Given the description of an element on the screen output the (x, y) to click on. 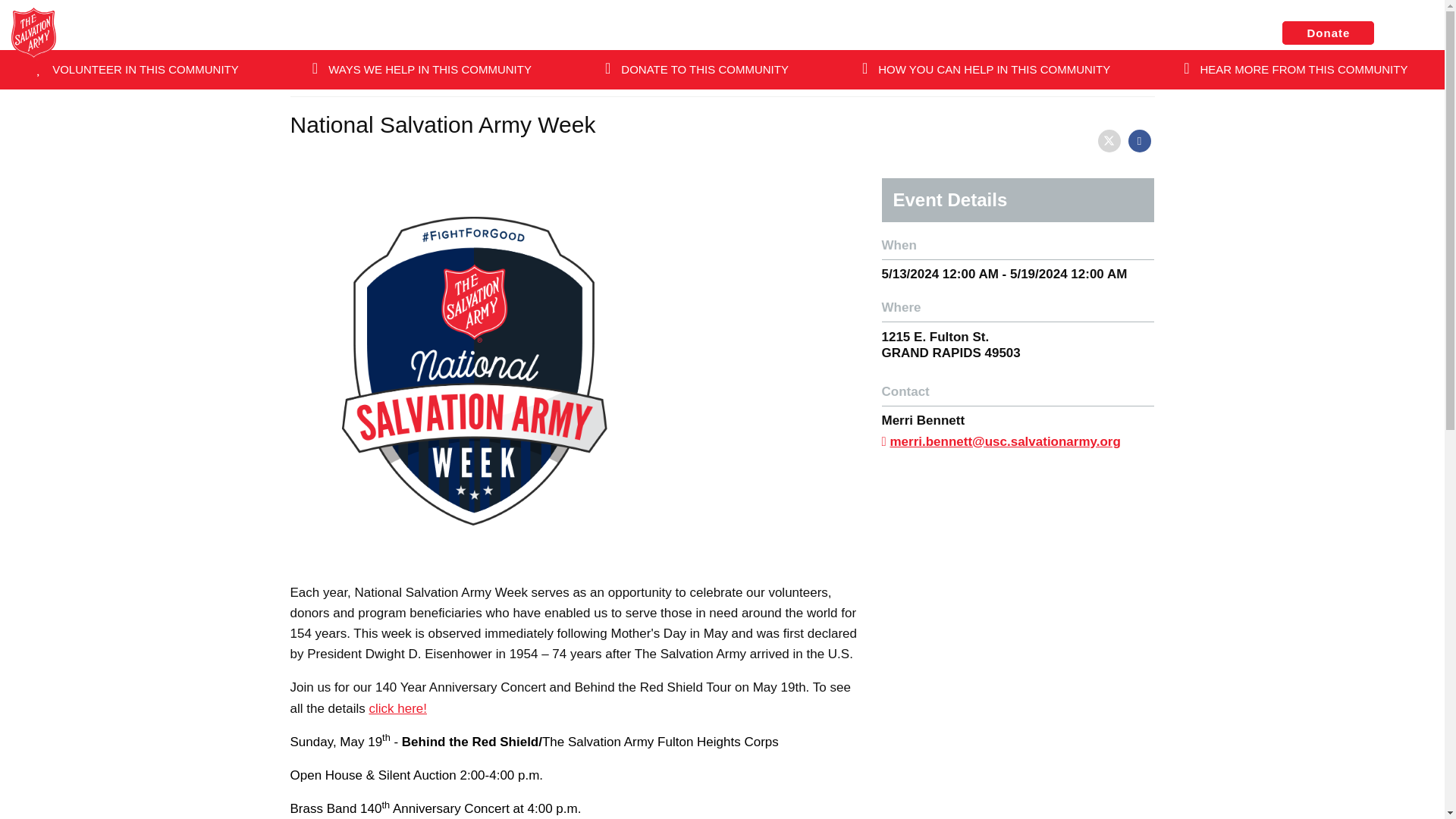
click here! (397, 708)
Donate (1328, 33)
Kent County Salvation Army (670, 33)
VOLUNTEER IN THIS COMMUNITY (137, 69)
HOW YOU CAN HELP IN THIS COMMUNITY (986, 69)
Go (456, 112)
Menu (1412, 34)
Share on Twitter (1109, 139)
DONATE TO THIS COMMUNITY (697, 69)
WAYS WE HELP IN THIS COMMUNITY (421, 69)
